Given the description of an element on the screen output the (x, y) to click on. 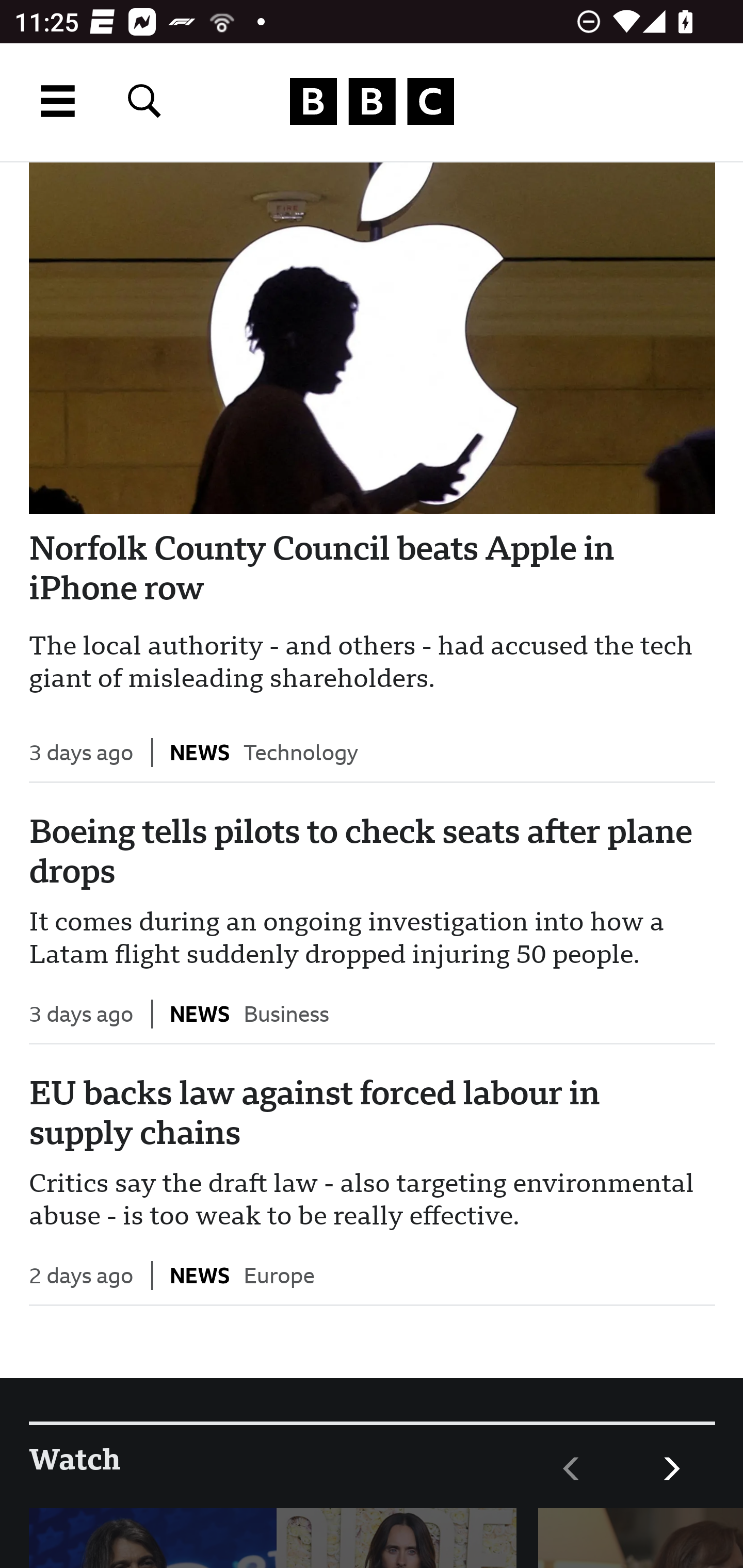
www.bbc (371, 101)
